Given the description of an element on the screen output the (x, y) to click on. 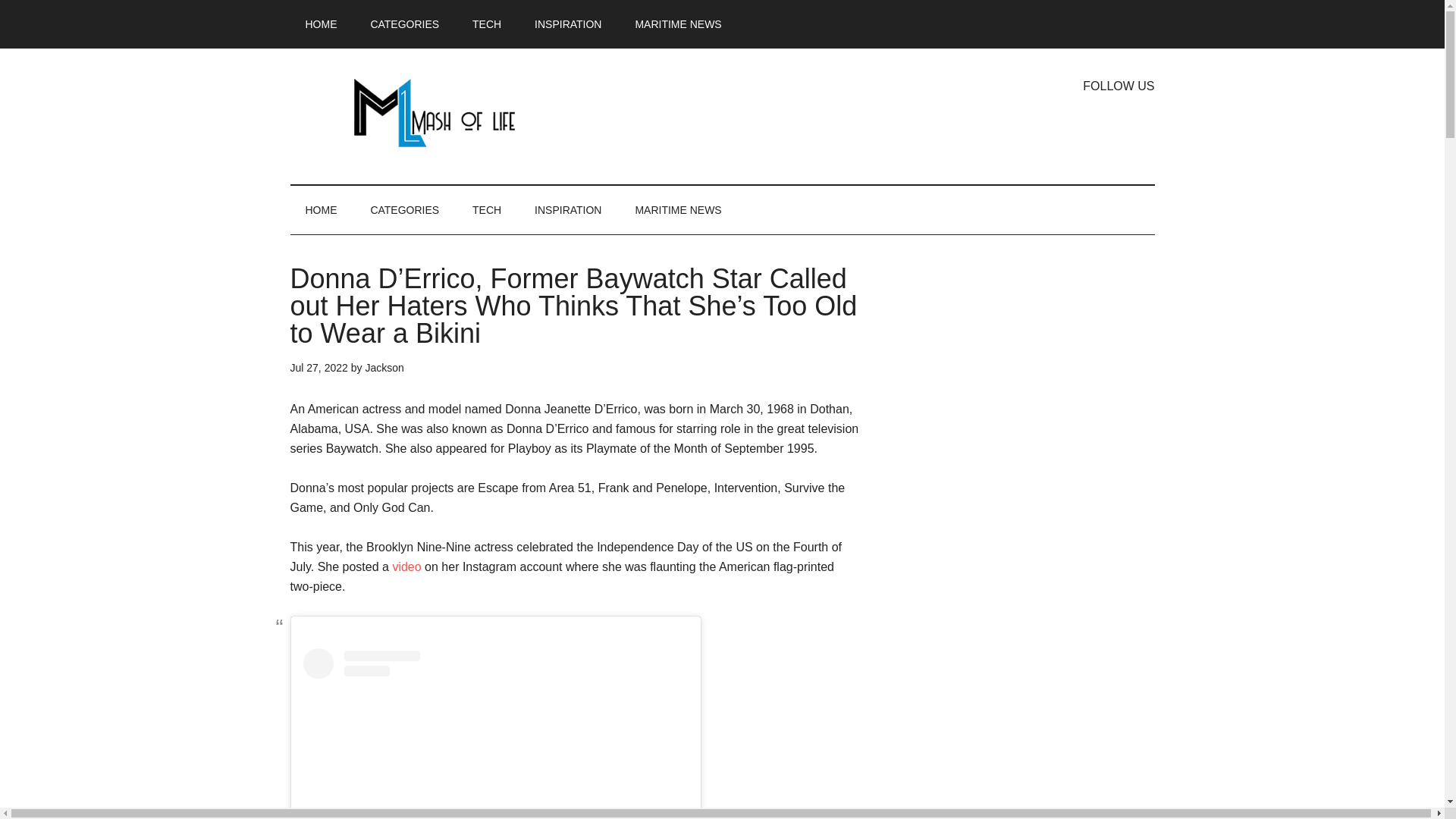
CATEGORIES (404, 209)
TECH (486, 209)
INSPIRATION (567, 24)
Pinterest (1141, 123)
HOME (320, 24)
CATEGORIES (404, 24)
MARITIME NEWS (678, 24)
HOME (320, 209)
TECH (486, 24)
